Given the description of an element on the screen output the (x, y) to click on. 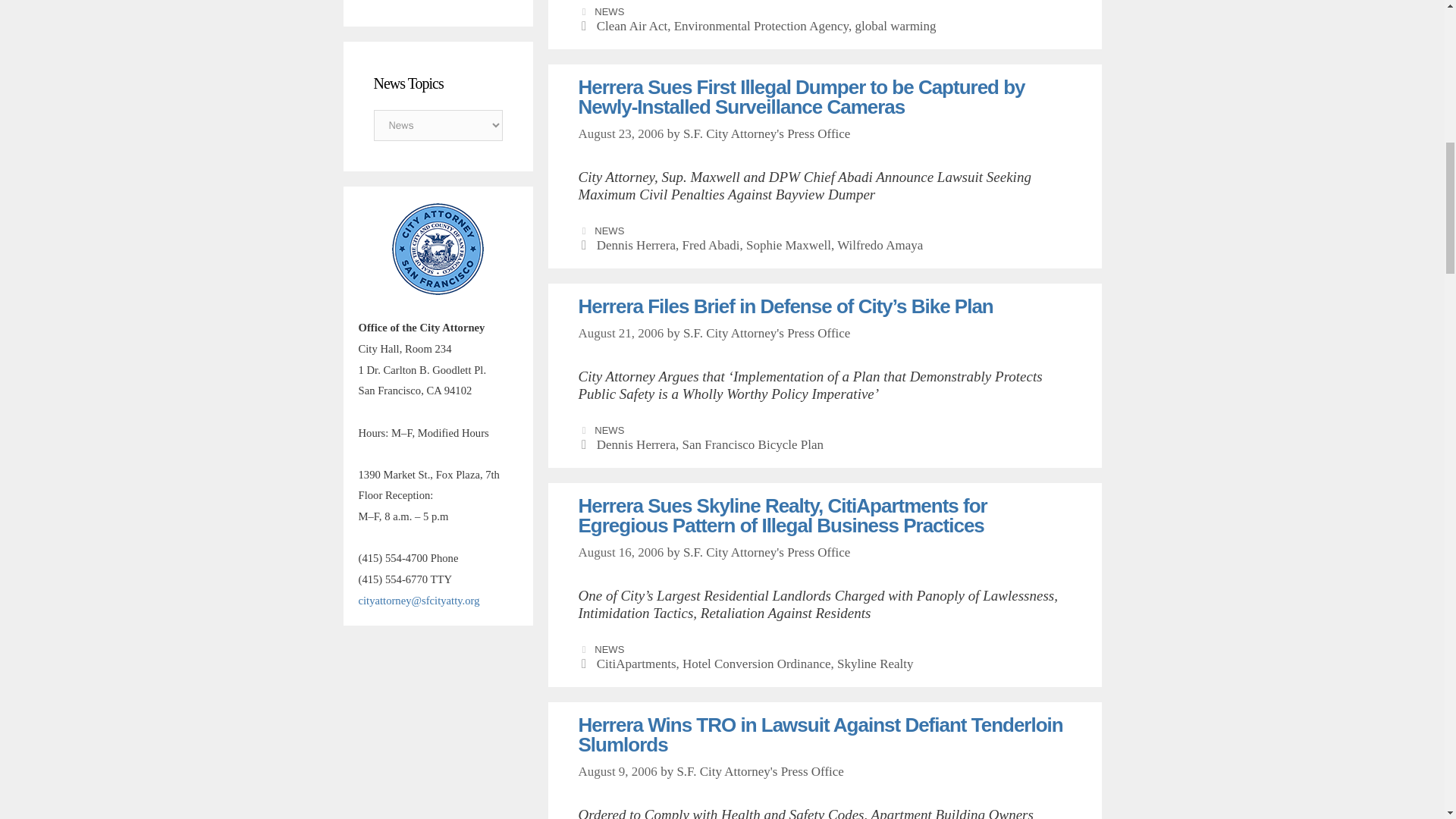
View all posts by S.F. City Attorney's Press Office (766, 332)
View all posts by S.F. City Attorney's Press Office (766, 552)
View all posts by S.F. City Attorney's Press Office (760, 771)
View all posts by S.F. City Attorney's Press Office (766, 133)
